Given the description of an element on the screen output the (x, y) to click on. 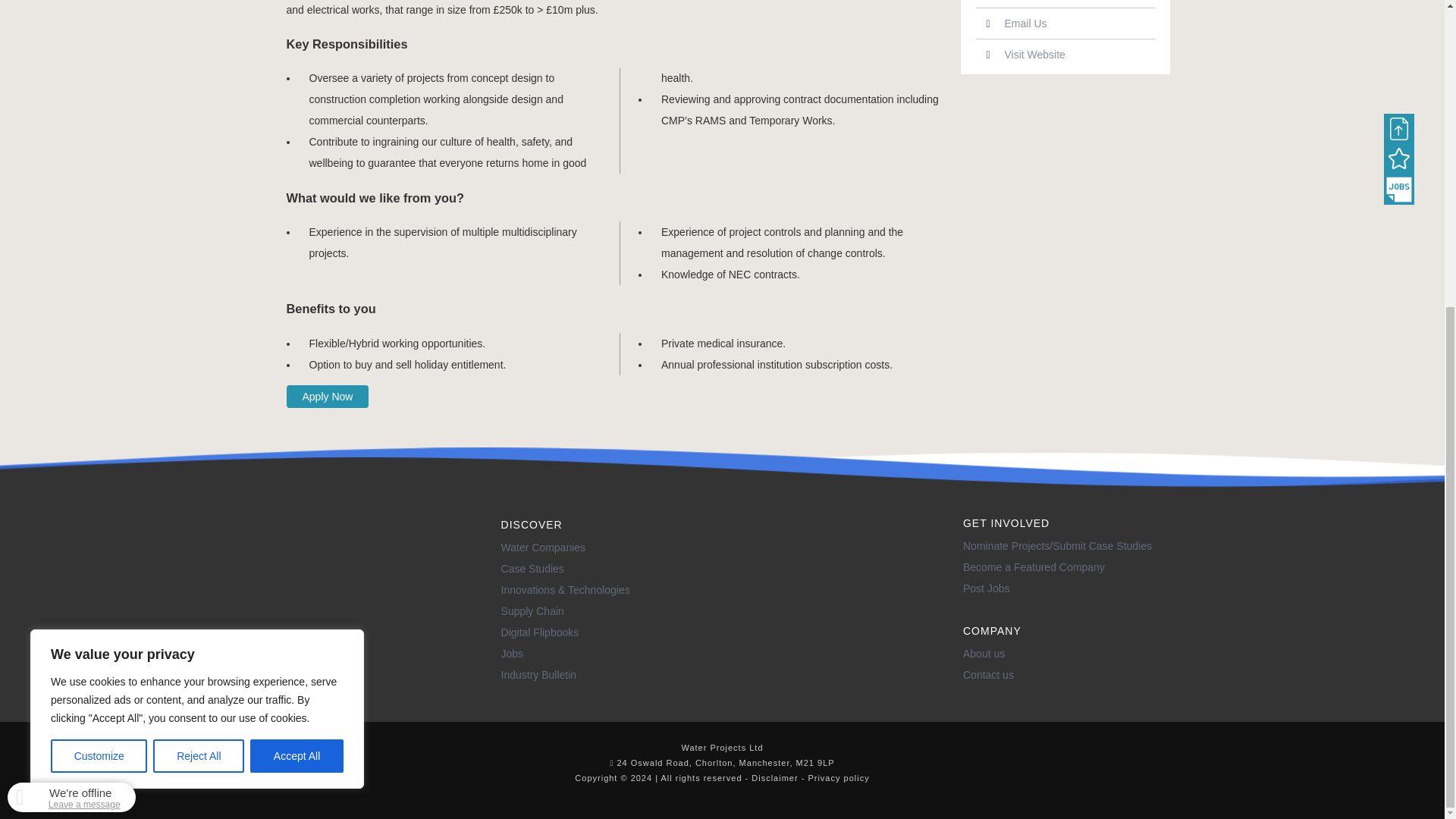
Reject All (198, 271)
Accept All (296, 271)
Customize (98, 271)
